Given the description of an element on the screen output the (x, y) to click on. 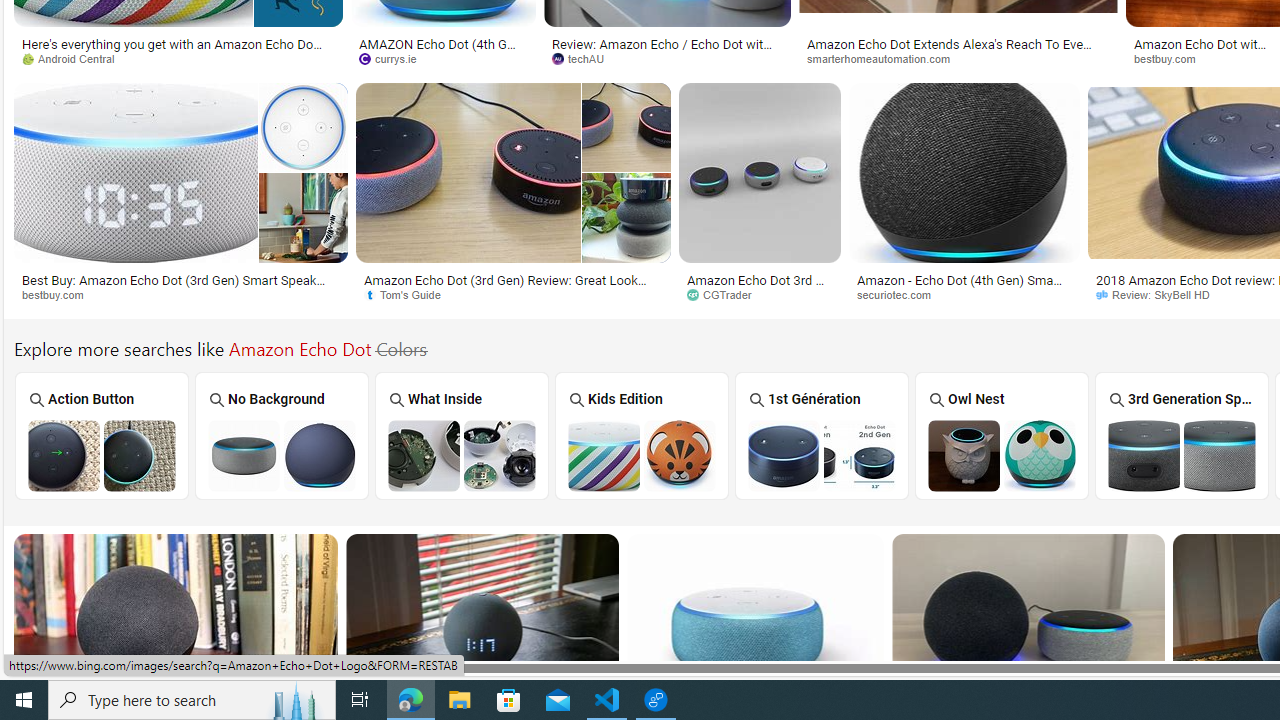
Action Button (101, 435)
No Background (281, 435)
bestbuy.com (59, 294)
Amazon Echo Dot Action Button (102, 455)
Amazon Echo Dot 3rd Generation Speaker (1181, 455)
Amazon Echo Dot Action Button Action Button (101, 435)
Review: SkyBell HD (1159, 294)
Tom's Guide (513, 295)
Android Central (75, 57)
Amazon Echo Dot Owl and Nest (1002, 455)
CGTrader (726, 294)
